Given the description of an element on the screen output the (x, y) to click on. 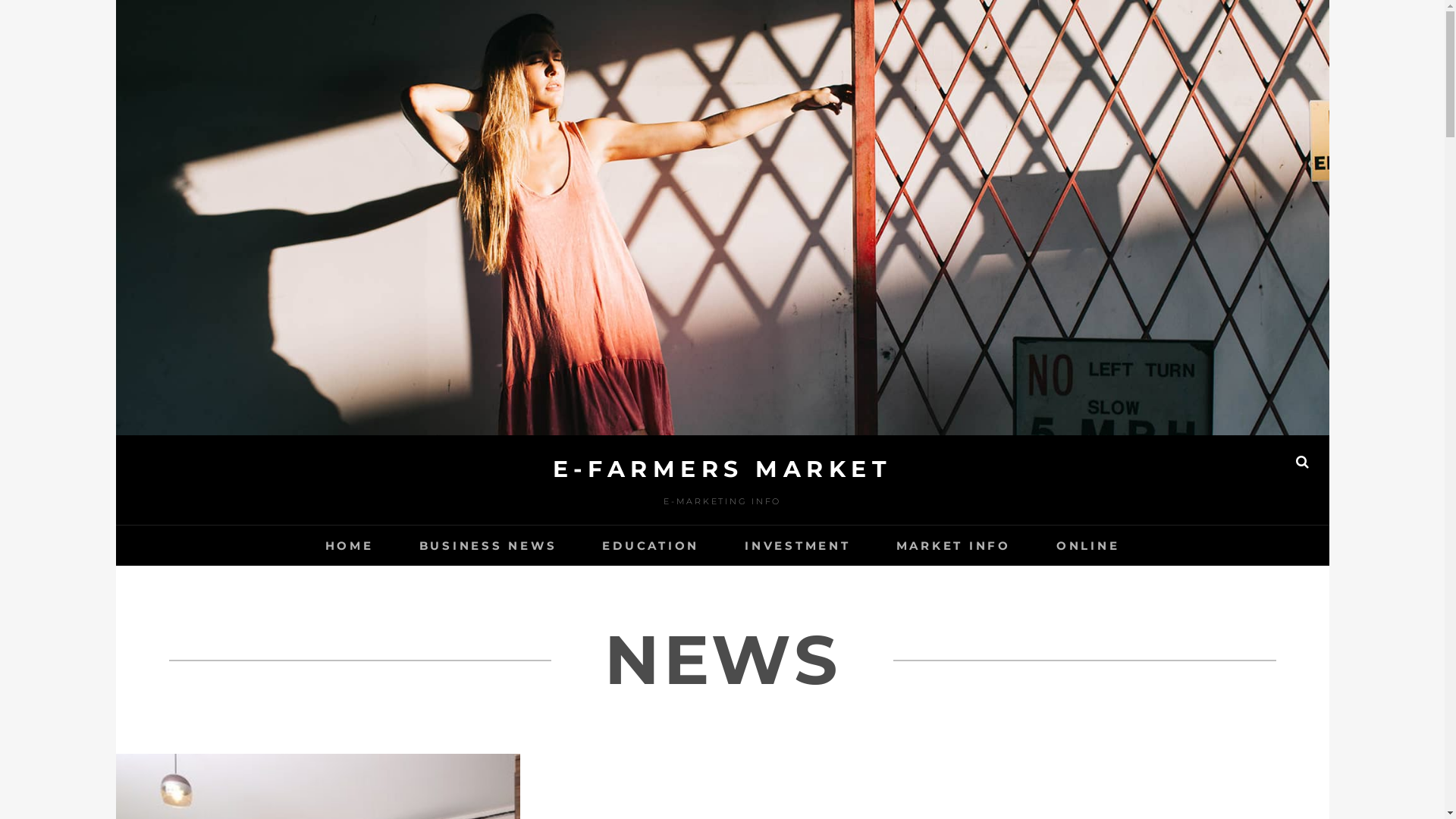
HOME Element type: text (349, 545)
BUSINESS NEWS Element type: text (488, 545)
ONLINE Element type: text (1088, 545)
EDUCATION Element type: text (650, 545)
INVESTMENT Element type: text (797, 545)
MARKET INFO Element type: text (953, 545)
E-FARMERS MARKET Element type: text (721, 469)
SEARCH Element type: text (1302, 461)
